Given the description of an element on the screen output the (x, y) to click on. 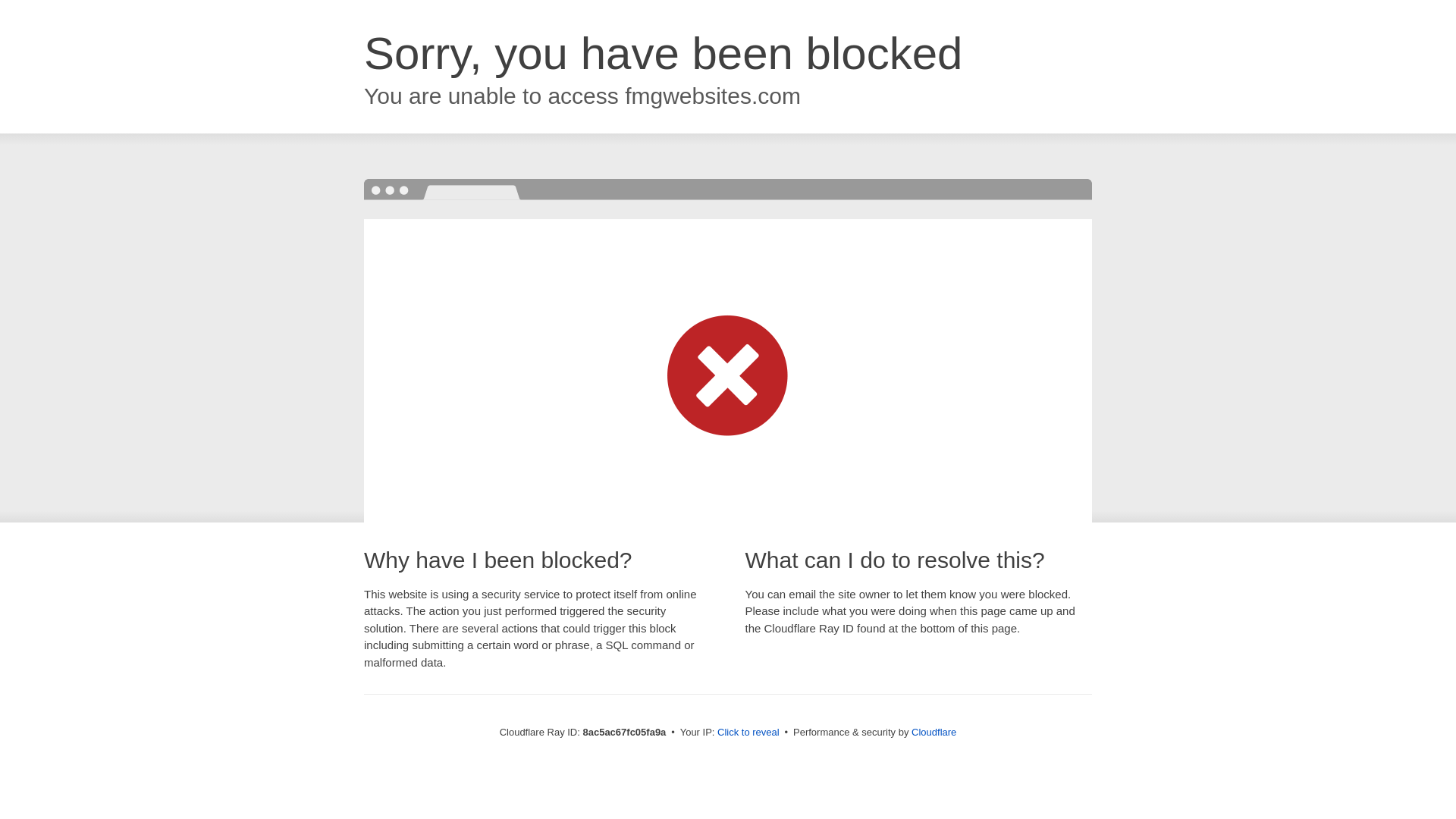
Cloudflare (933, 731)
Click to reveal (747, 732)
